Given the description of an element on the screen output the (x, y) to click on. 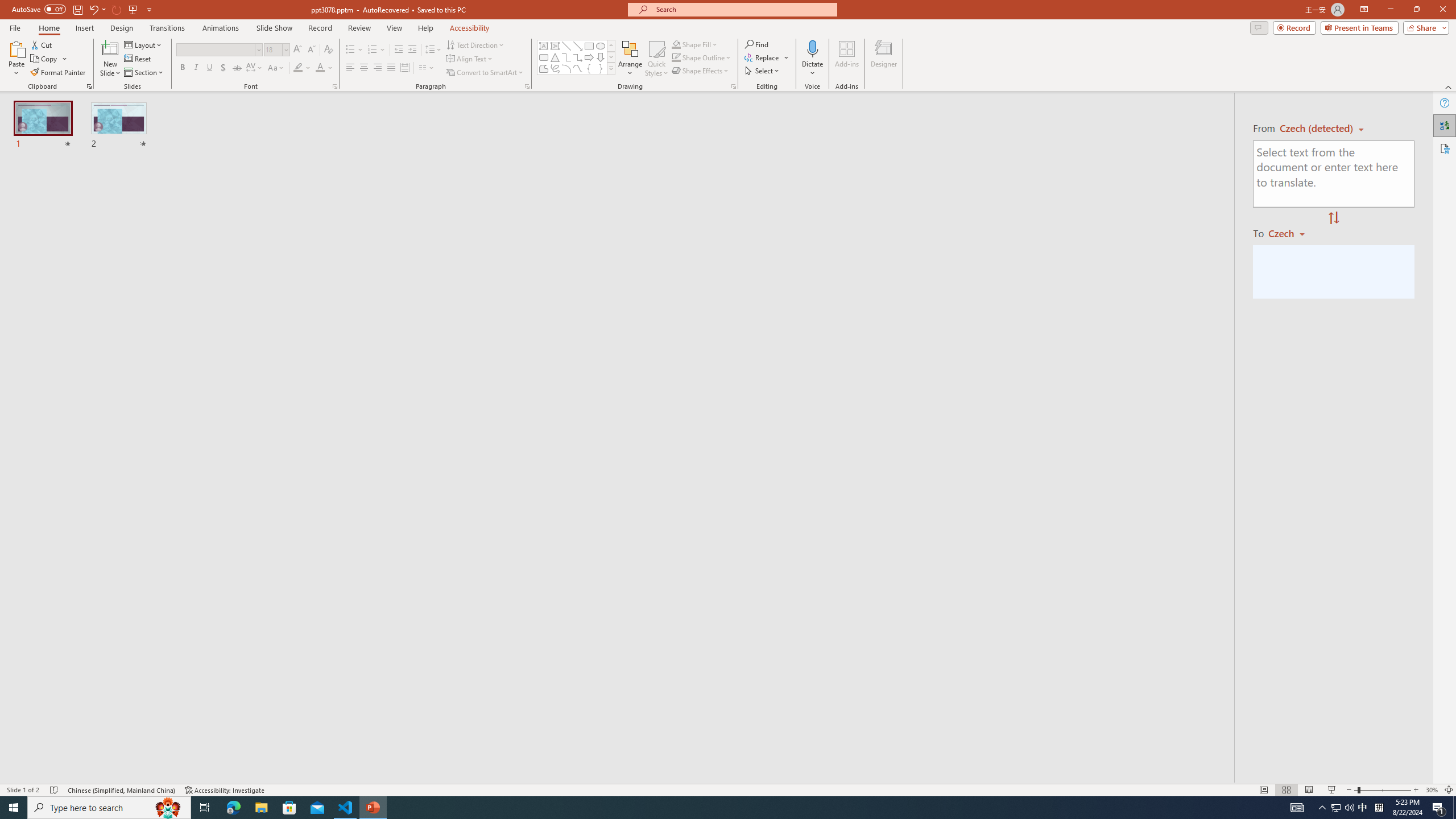
copilot-notconnected, Copilot error (click for details) (1001, 766)
Terminal 1 bash (995, 559)
Application Menu (76, 183)
Output (Ctrl+Shift+U) (395, 533)
Customize Layout... (1043, 150)
Timeline Section (188, 746)
Manage (76, 712)
Debug Console (Ctrl+Shift+Y) (486, 533)
Views and More Actions... (979, 533)
